Given the description of an element on the screen output the (x, y) to click on. 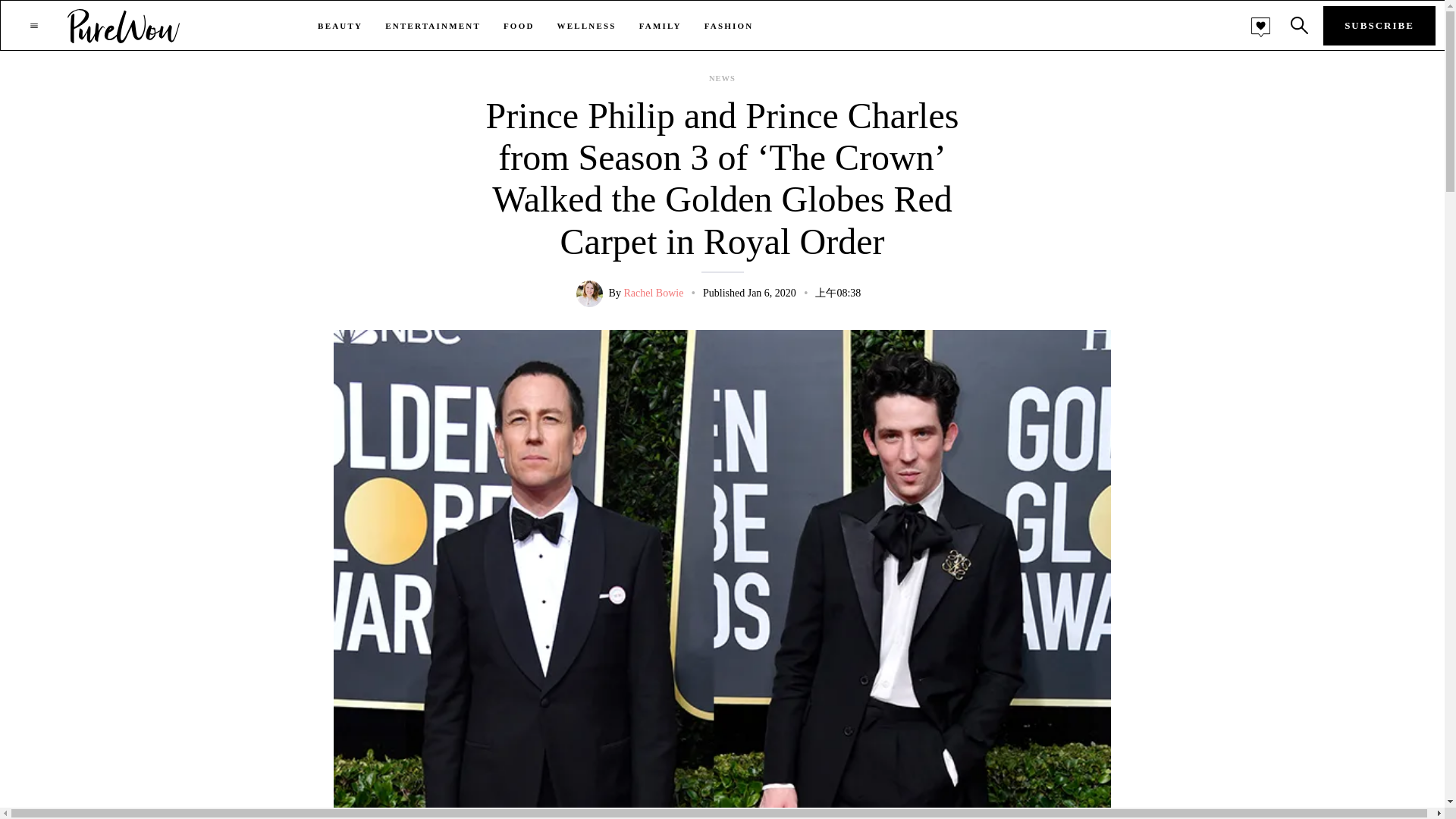
PureWow (123, 25)
ENTERTAINMENT (432, 25)
BEAUTY (339, 25)
WELLNESS (586, 25)
FOOD (518, 25)
NEWS (722, 78)
FAMILY (660, 25)
FASHION (729, 25)
Rachel Bowie (652, 292)
SUBSCRIBE (1379, 25)
